Given the description of an element on the screen output the (x, y) to click on. 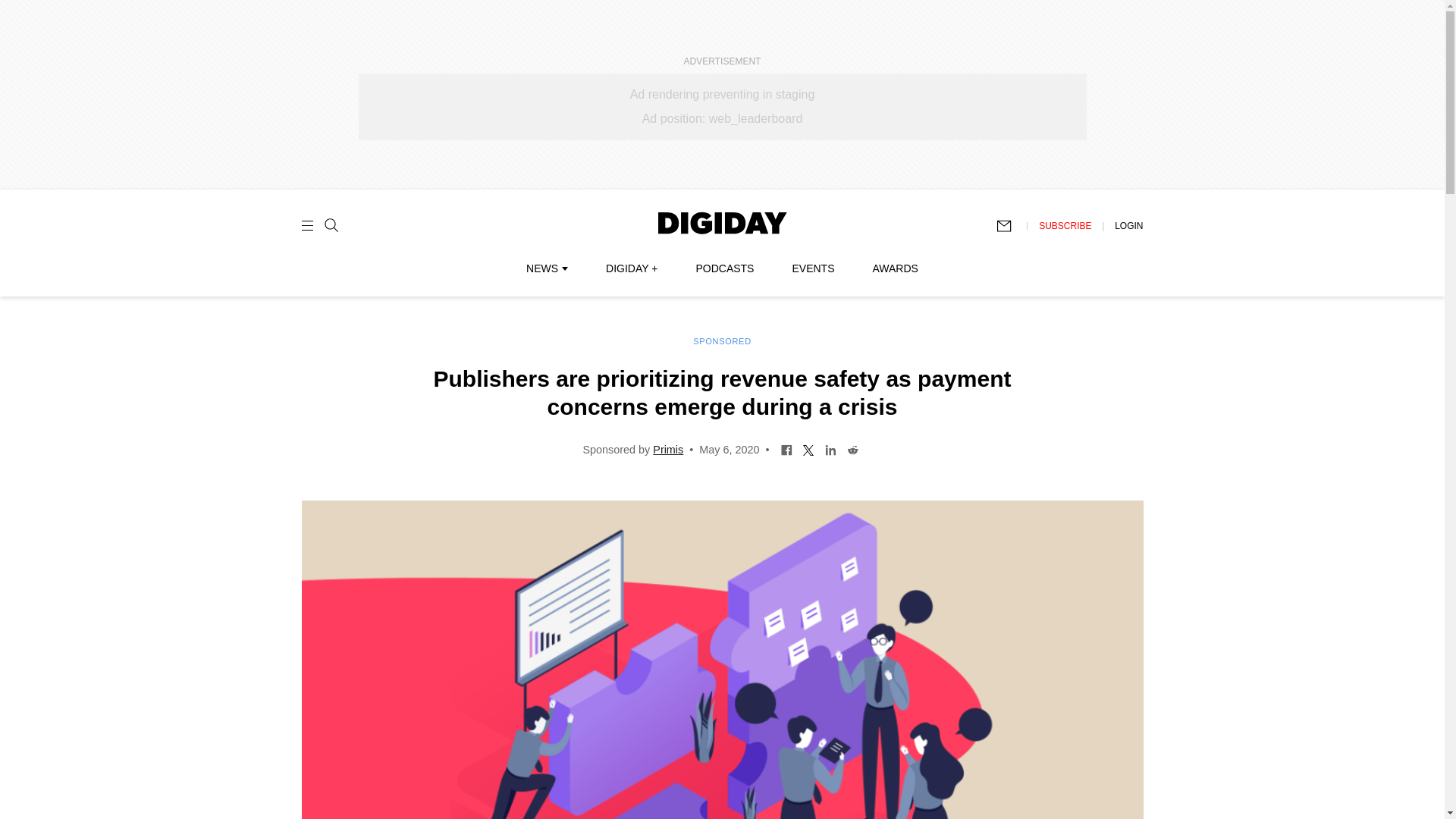
NEWS (546, 267)
Share on Facebook (786, 449)
Subscribe (1010, 225)
EVENTS (813, 267)
Share on LinkedIn (830, 449)
PODCASTS (725, 267)
Share on Twitter (808, 449)
SUBSCRIBE (1064, 225)
Share on Reddit (852, 449)
AWARDS (894, 267)
LOGIN (1128, 225)
